Given the description of an element on the screen output the (x, y) to click on. 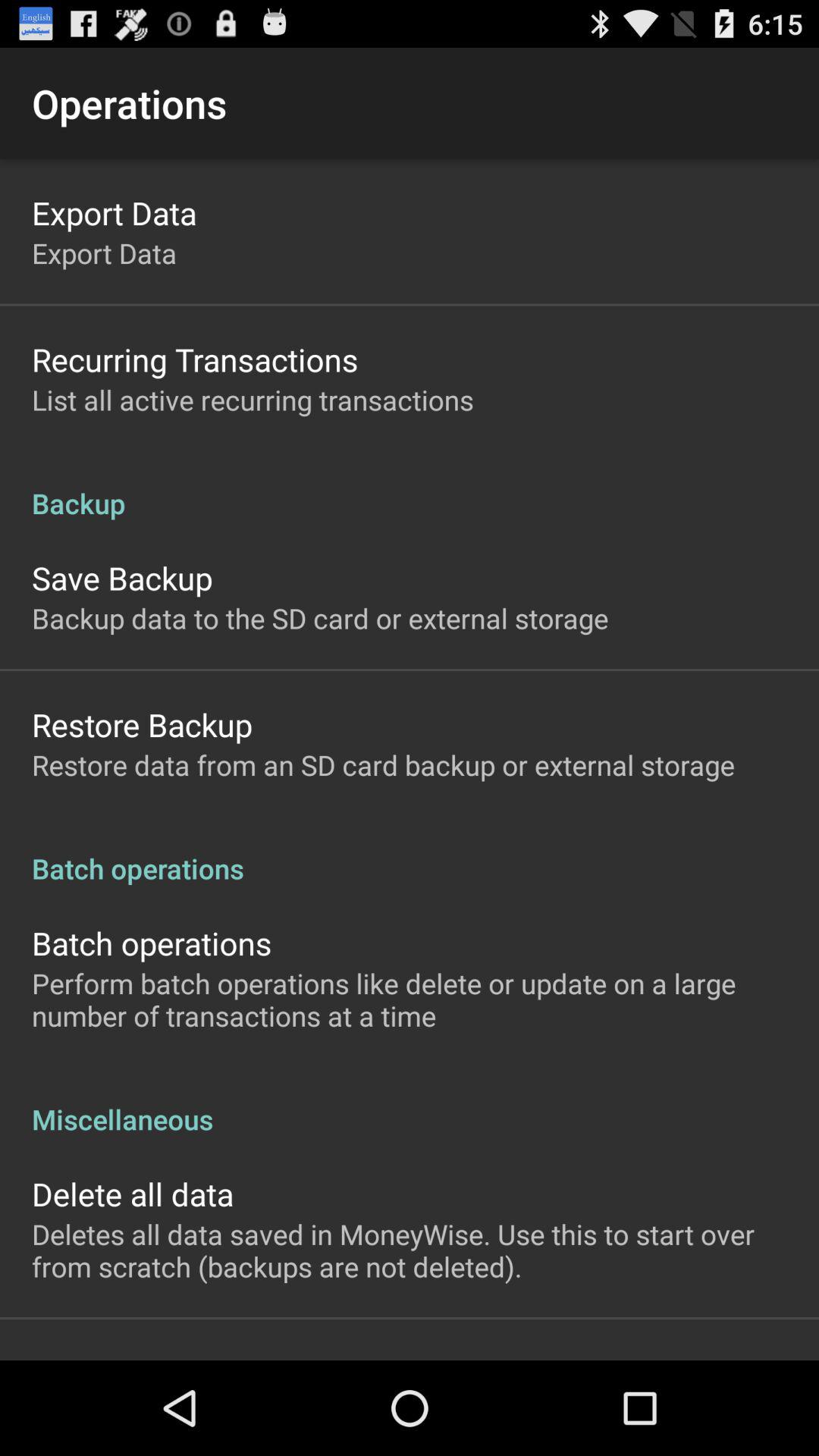
choose list all active (252, 399)
